Given the description of an element on the screen output the (x, y) to click on. 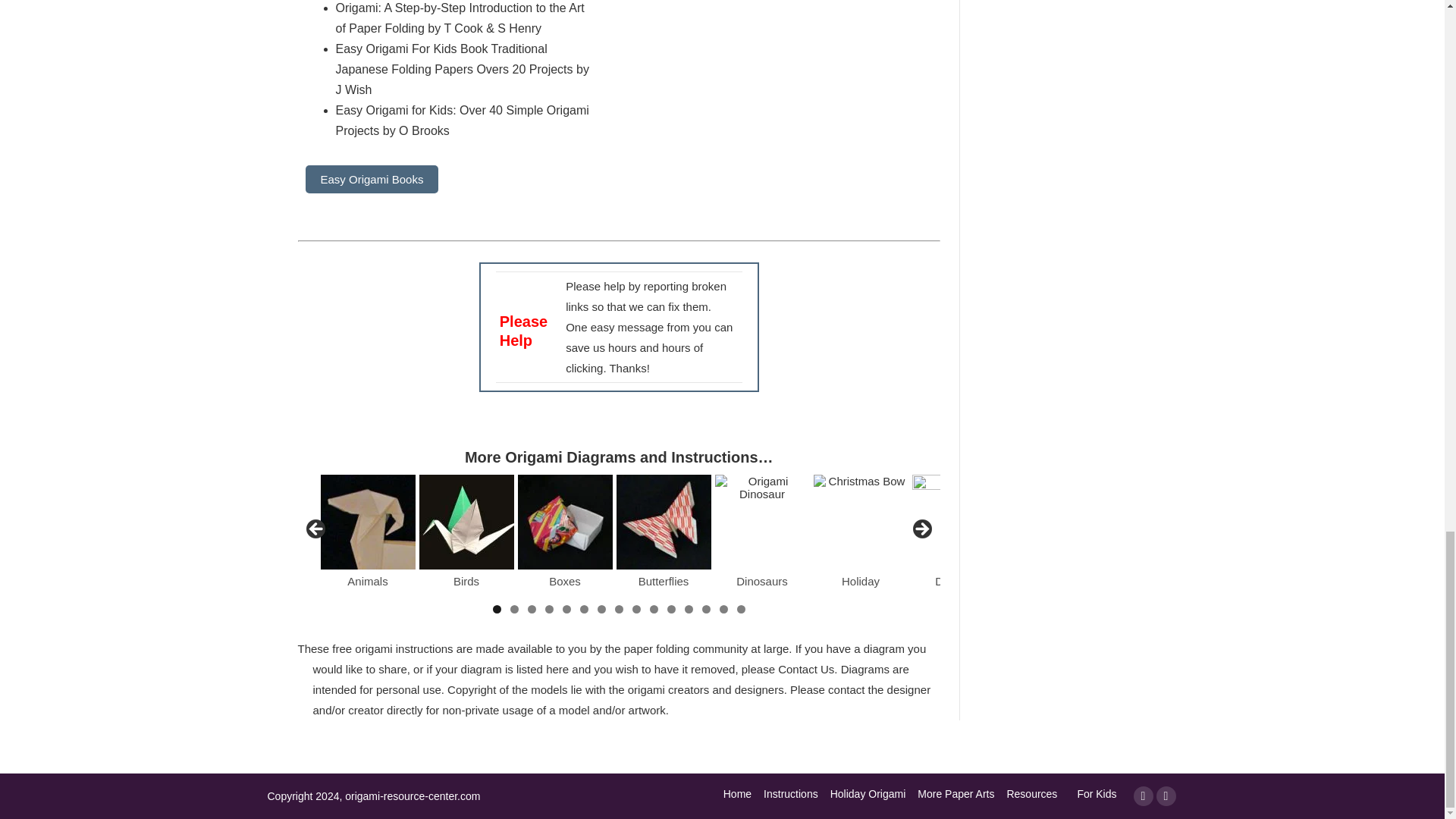
Origami Dinosaur (761, 522)
Christmas Bow (859, 522)
Money Origami (958, 522)
Facebook (1142, 795)
Pinterest (1165, 795)
Origami Box (563, 522)
Origami Animals (367, 522)
Origami Diagrams (466, 522)
Origami Butterfly (662, 522)
